Given the description of an element on the screen output the (x, y) to click on. 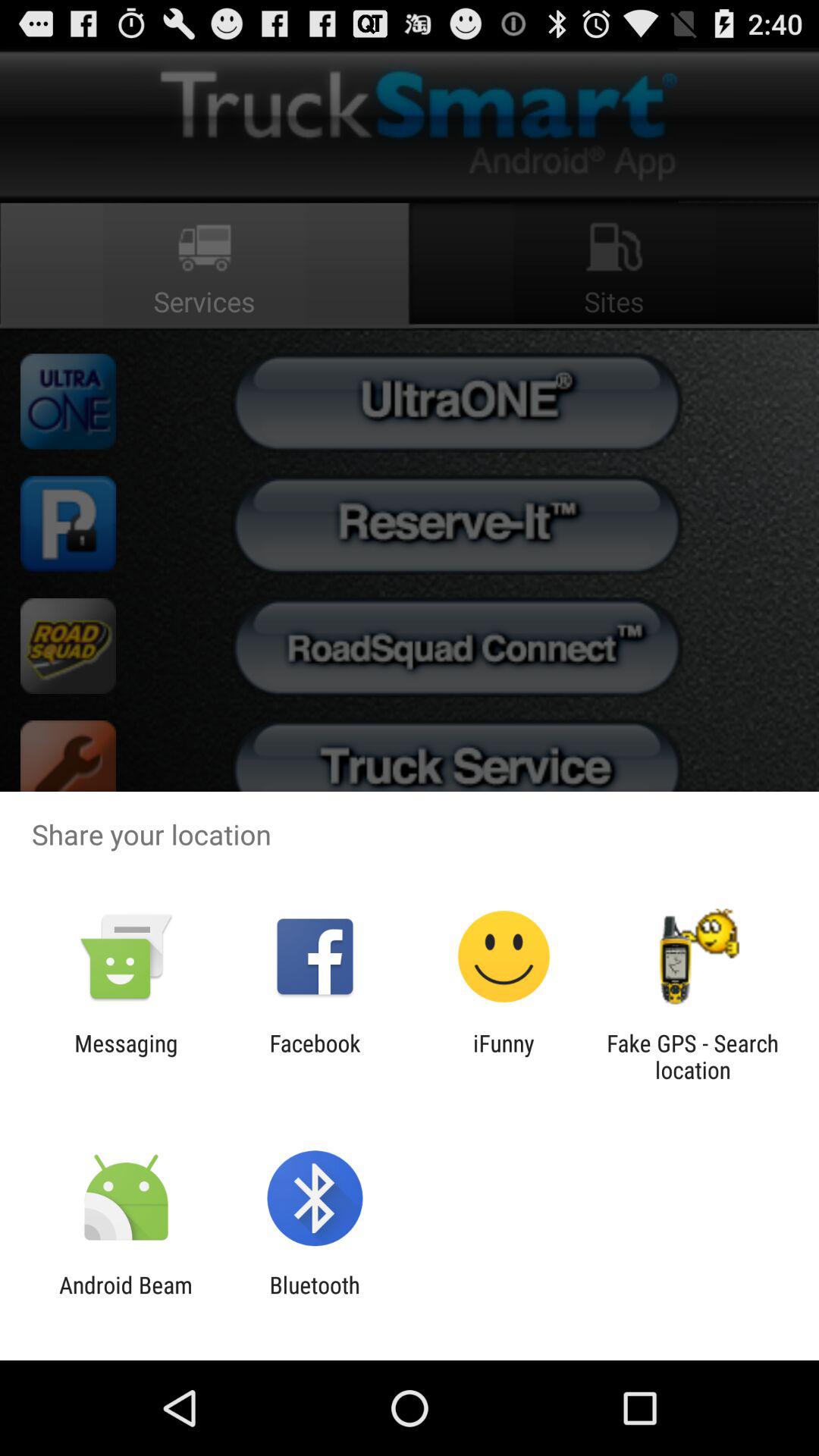
turn off the messaging (126, 1056)
